Given the description of an element on the screen output the (x, y) to click on. 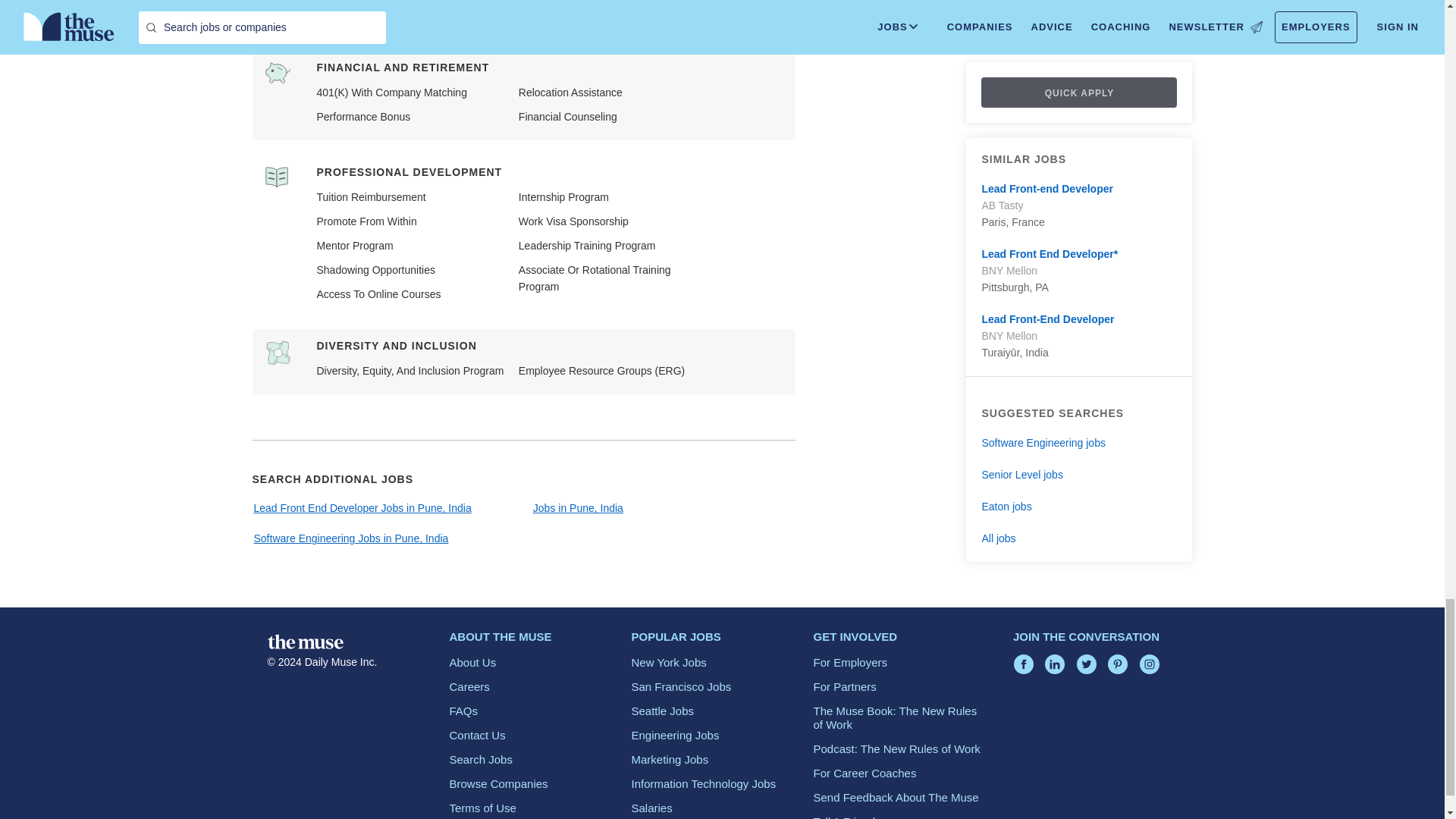
The Muse LogoA logo with "the muse" in white text. (304, 640)
